Given the description of an element on the screen output the (x, y) to click on. 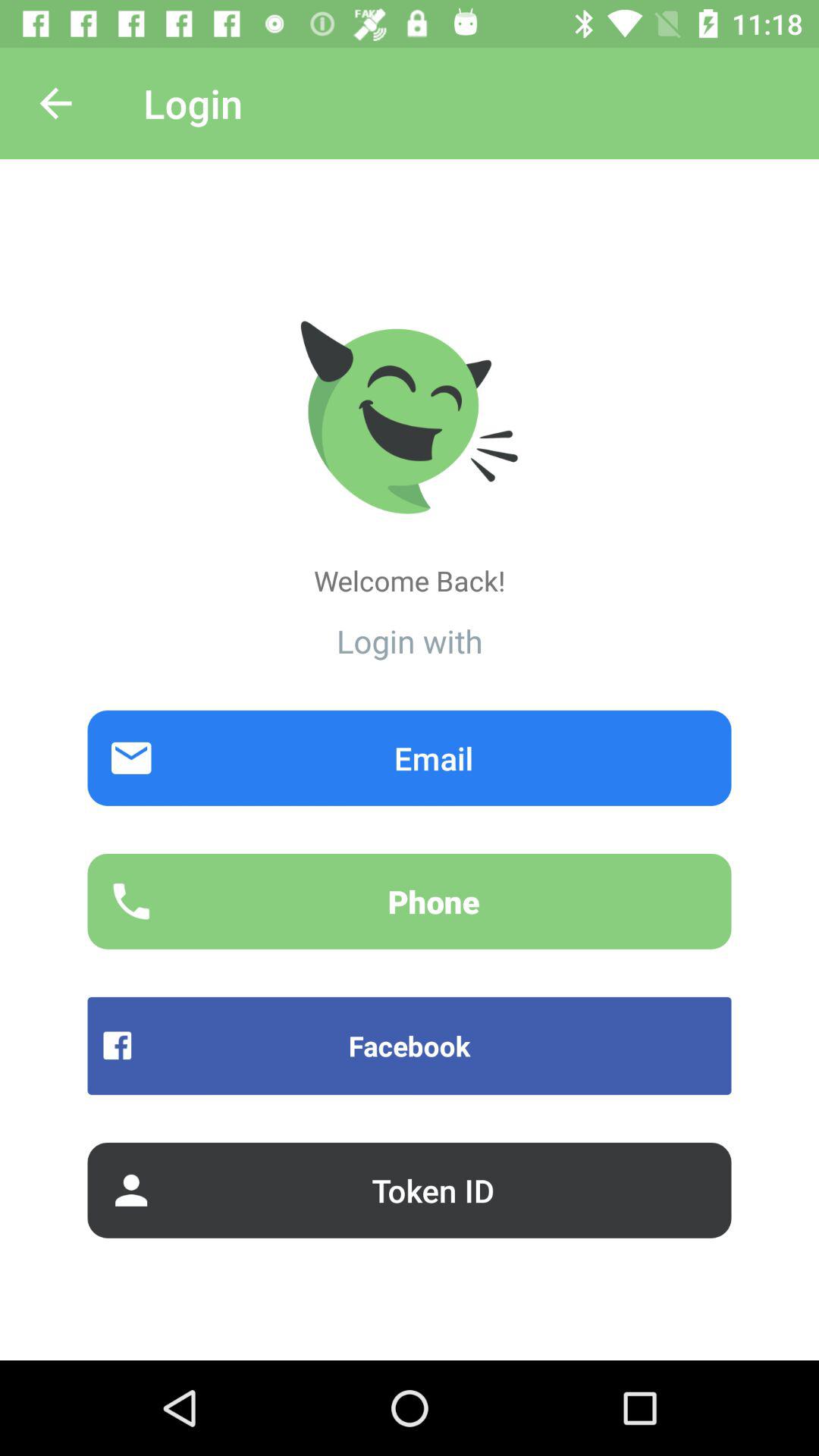
select the item above the facebook (409, 901)
